Given the description of an element on the screen output the (x, y) to click on. 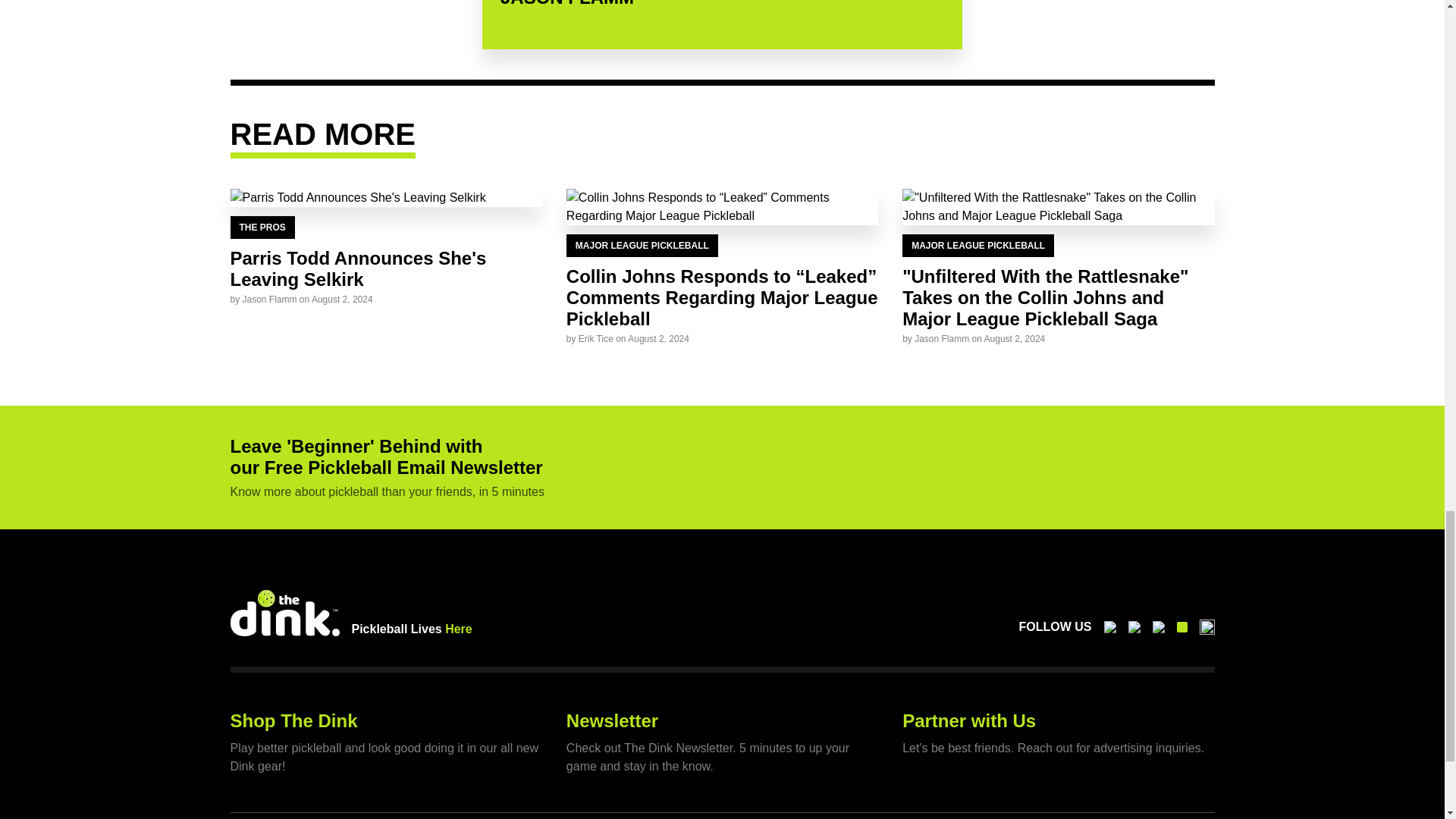
Shop The Dink (294, 720)
Partner with Us (968, 720)
Newsletter (612, 720)
